Given the description of an element on the screen output the (x, y) to click on. 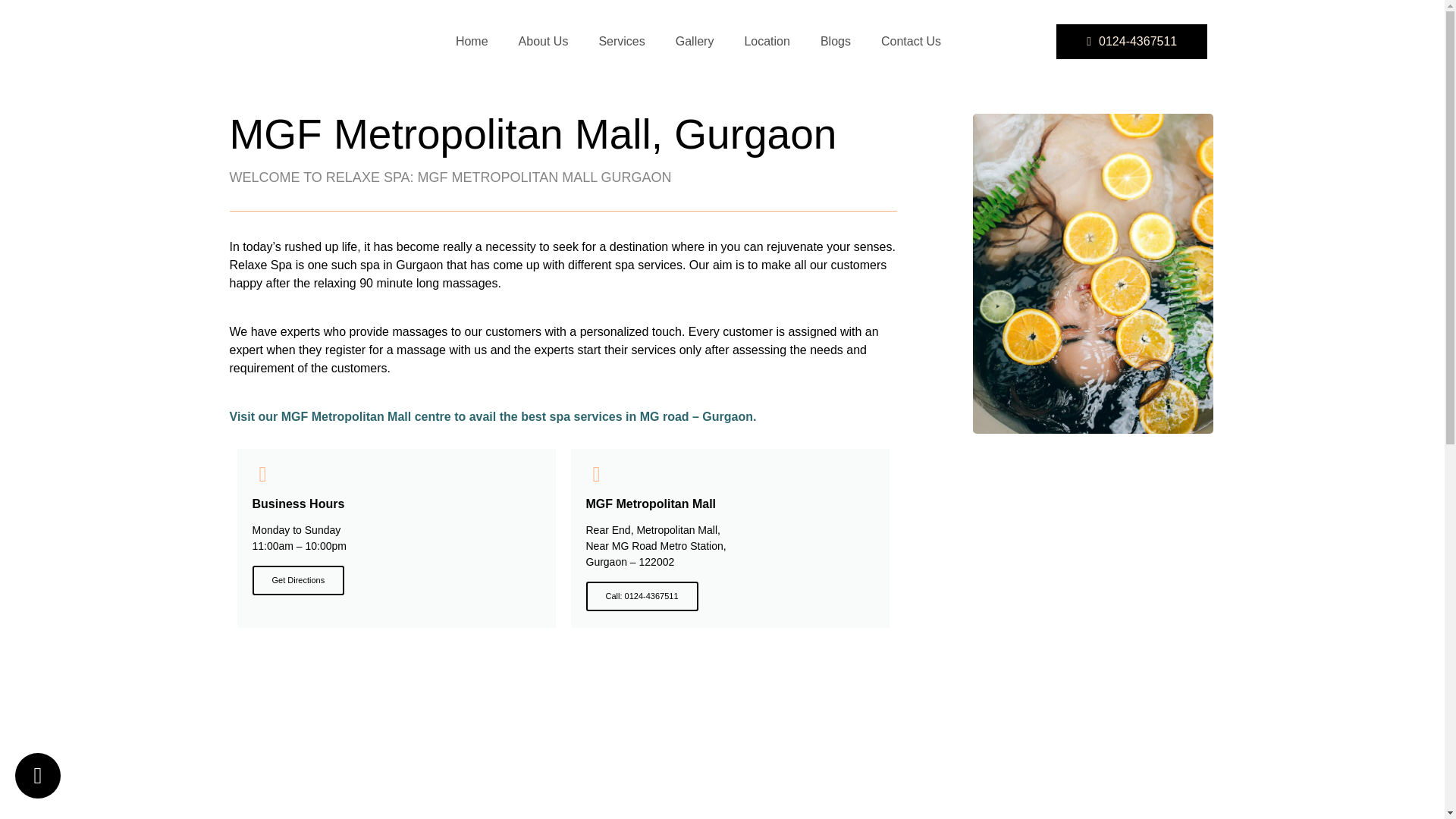
Gallery (695, 41)
Blogs (835, 41)
Location (767, 41)
Home (472, 41)
About Us (543, 41)
Services (621, 41)
Contact Us (911, 41)
